Given the description of an element on the screen output the (x, y) to click on. 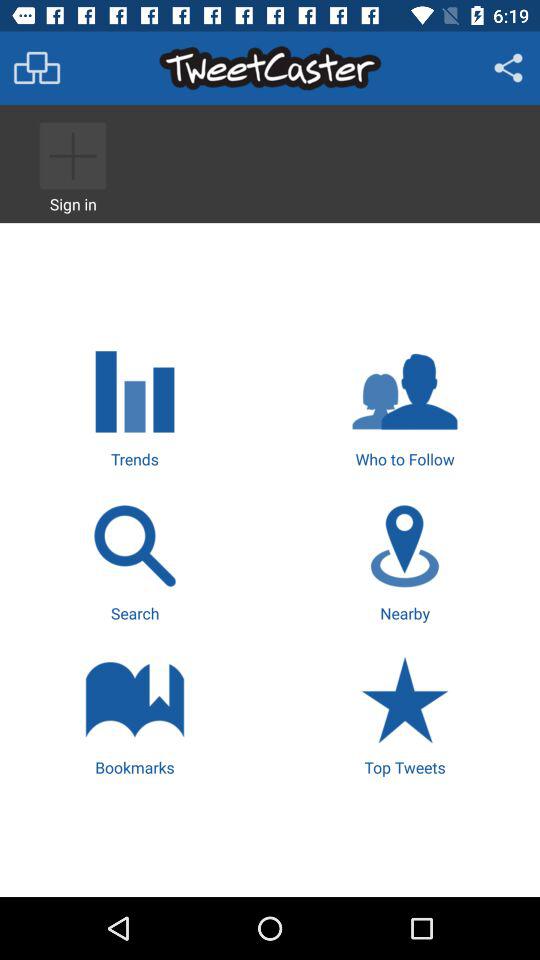
go to menu (36, 68)
